Given the description of an element on the screen output the (x, y) to click on. 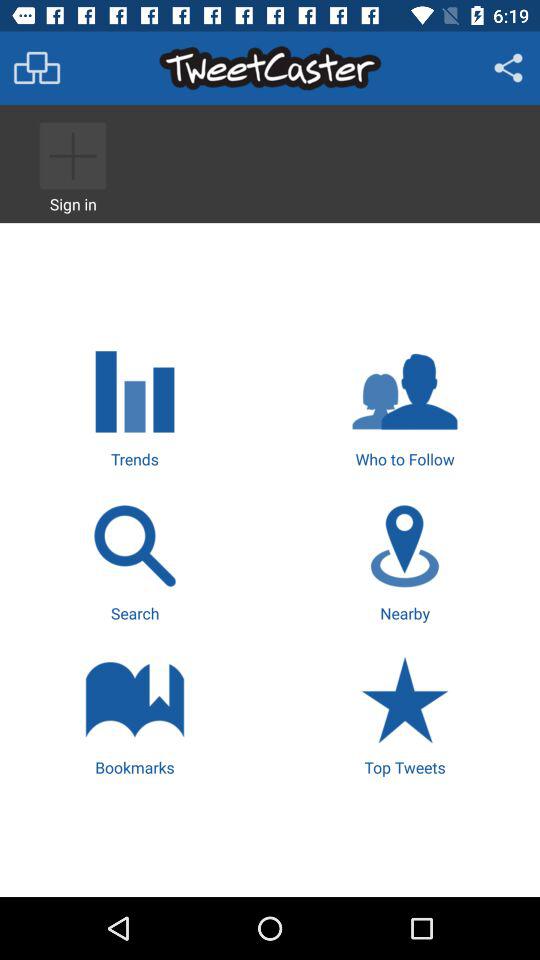
go to menu (36, 68)
